Given the description of an element on the screen output the (x, y) to click on. 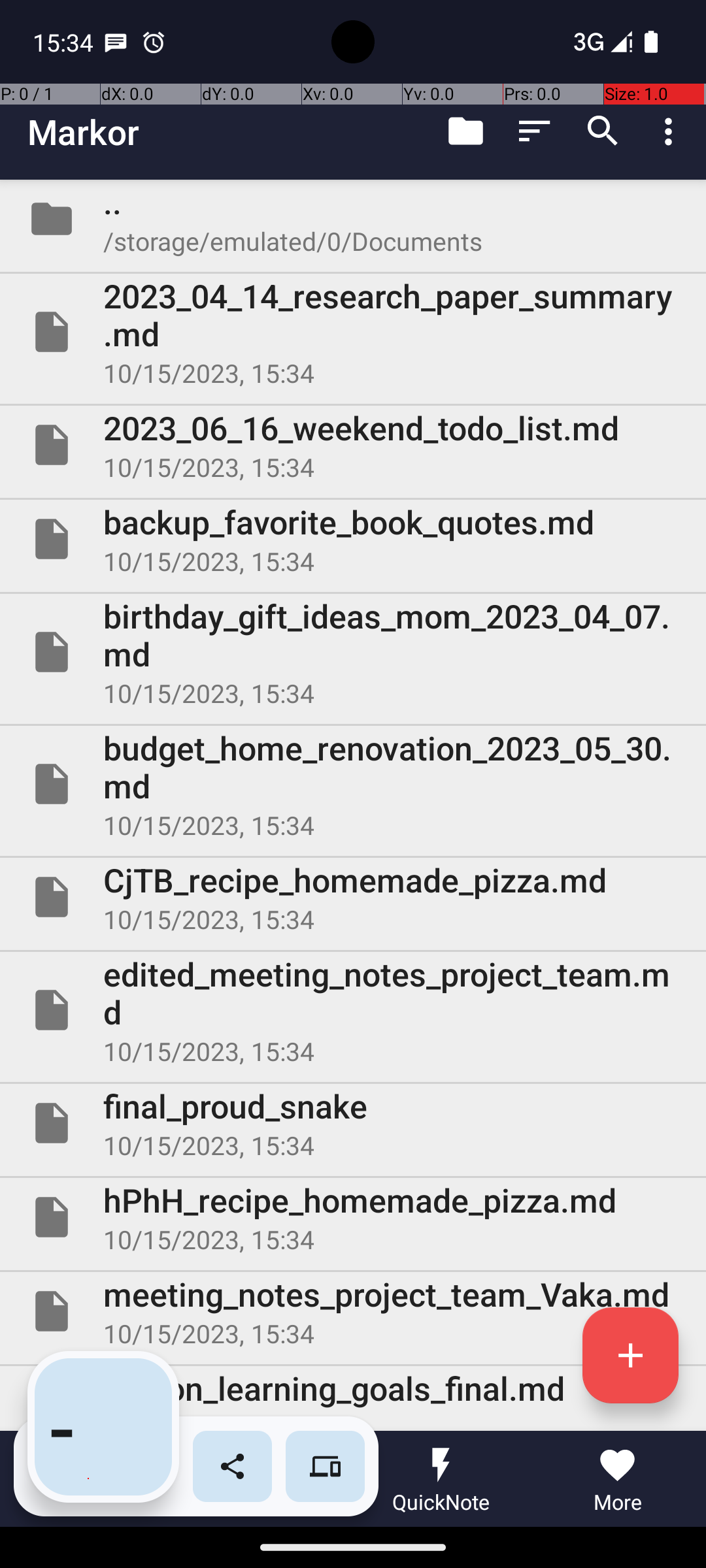
File 2023_04_14_research_paper_summary.md  Element type: android.widget.LinearLayout (353, 331)
File 2023_06_16_weekend_todo_list.md  Element type: android.widget.LinearLayout (353, 444)
File backup_favorite_book_quotes.md  Element type: android.widget.LinearLayout (353, 538)
File birthday_gift_ideas_mom_2023_04_07.md  Element type: android.widget.LinearLayout (353, 651)
File budget_home_renovation_2023_05_30.md  Element type: android.widget.LinearLayout (353, 783)
File CjTB_recipe_homemade_pizza.md  Element type: android.widget.LinearLayout (353, 896)
File edited_meeting_notes_project_team.md  Element type: android.widget.LinearLayout (353, 1009)
File final_proud_snake  Element type: android.widget.LinearLayout (353, 1122)
File hPhH_recipe_homemade_pizza.md  Element type: android.widget.LinearLayout (353, 1216)
File meeting_notes_project_team_Vaka.md  Element type: android.widget.LinearLayout (353, 1311)
File python_learning_goals_final.md  Element type: android.widget.LinearLayout (353, 1398)
Send to nearby device Element type: android.widget.FrameLayout (324, 1466)
